Given the description of an element on the screen output the (x, y) to click on. 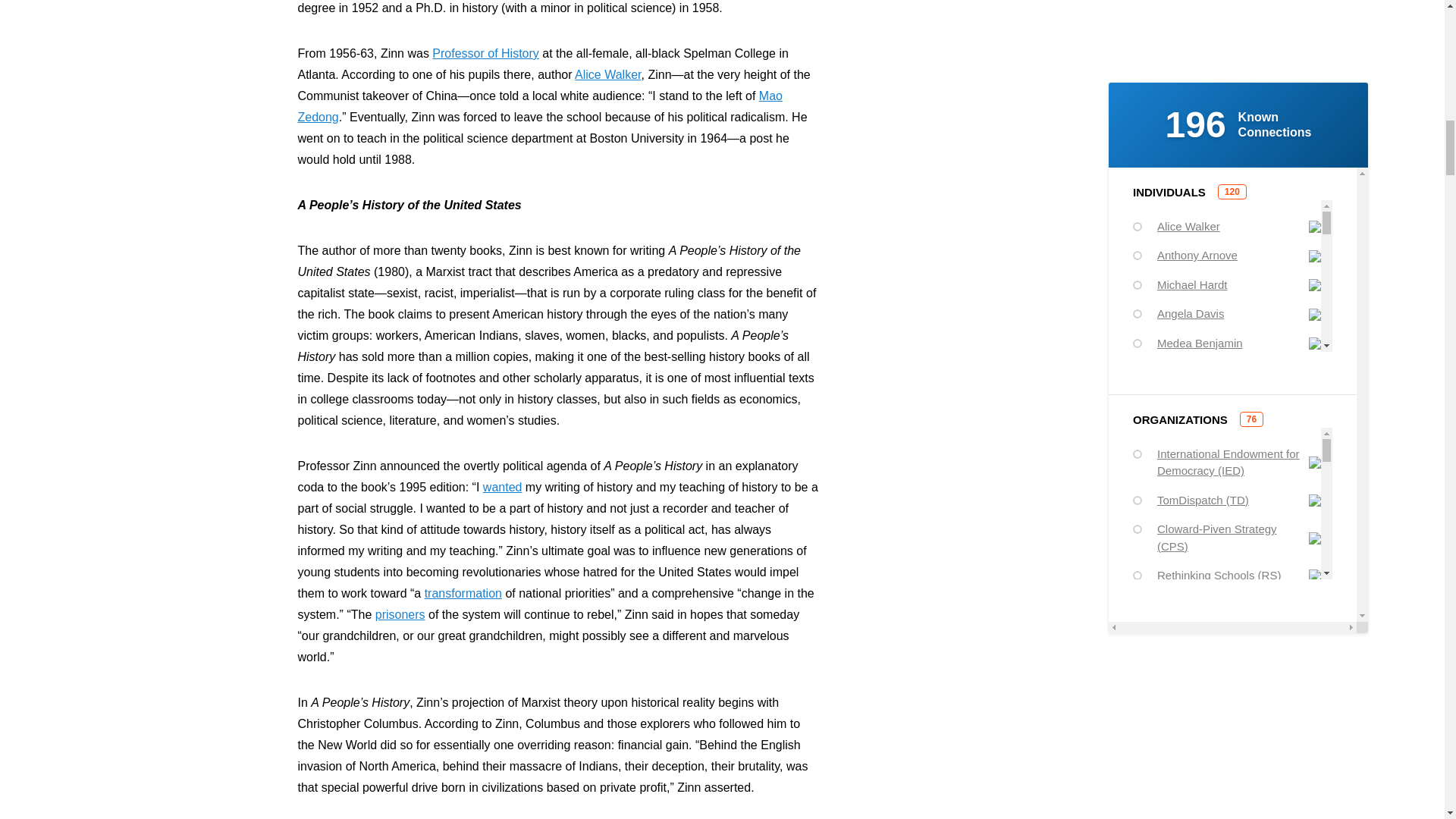
Alice Walker (607, 74)
Professor of History (485, 52)
Mao Zedong (539, 106)
prisoners (400, 614)
transformation (463, 593)
wanted (502, 486)
